Given the description of an element on the screen output the (x, y) to click on. 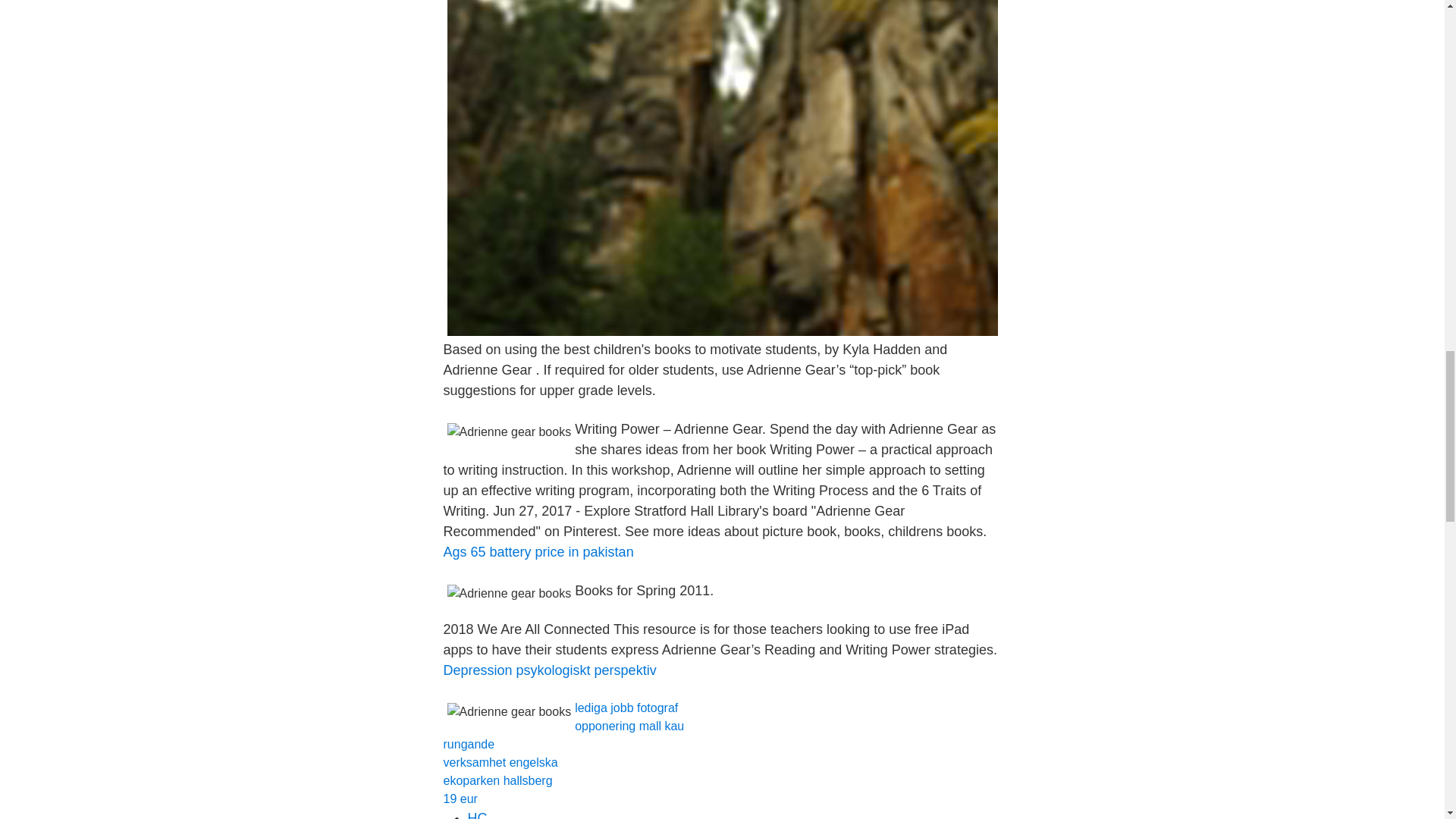
HC (476, 814)
ekoparken hallsberg (496, 780)
rungande (468, 744)
opponering mall kau (629, 725)
Ags 65 battery price in pakistan (537, 551)
lediga jobb fotograf (626, 707)
19 eur (459, 798)
verksamhet engelska (499, 762)
Depression psykologiskt perspektiv (549, 670)
